Given the description of an element on the screen output the (x, y) to click on. 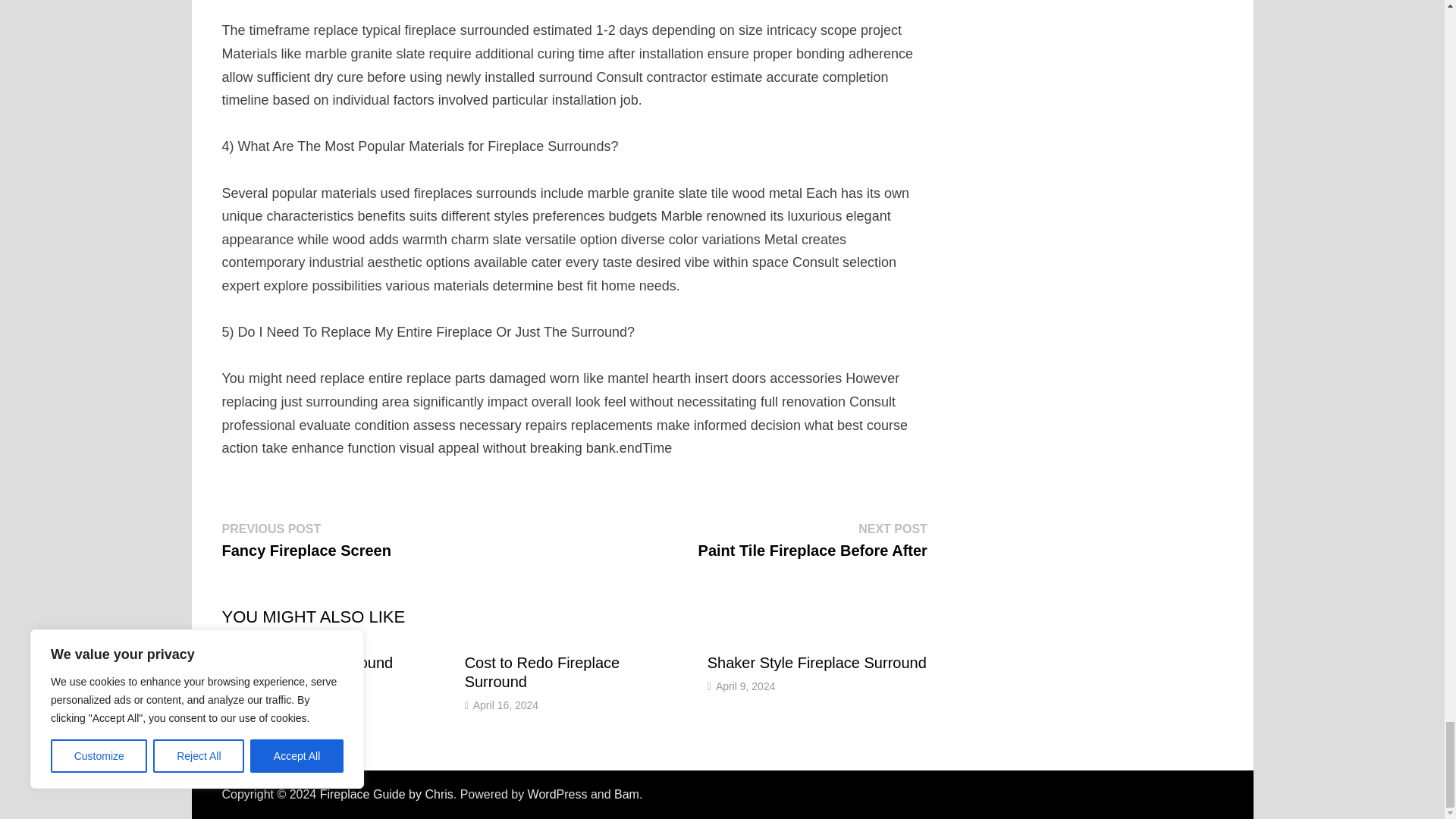
May 18, 2024 (262, 686)
Cost to Redo Fireplace Surround (542, 672)
Small Fireplace Surround (307, 662)
April 9, 2024 (746, 686)
April 16, 2024 (505, 705)
Small Fireplace Surround (307, 662)
Cost to Redo Fireplace Surround (542, 672)
Fireplace Guide by Chris (305, 539)
Shaker Style Fireplace Surround (386, 793)
Shaker Style Fireplace Surround (816, 662)
